Given the description of an element on the screen output the (x, y) to click on. 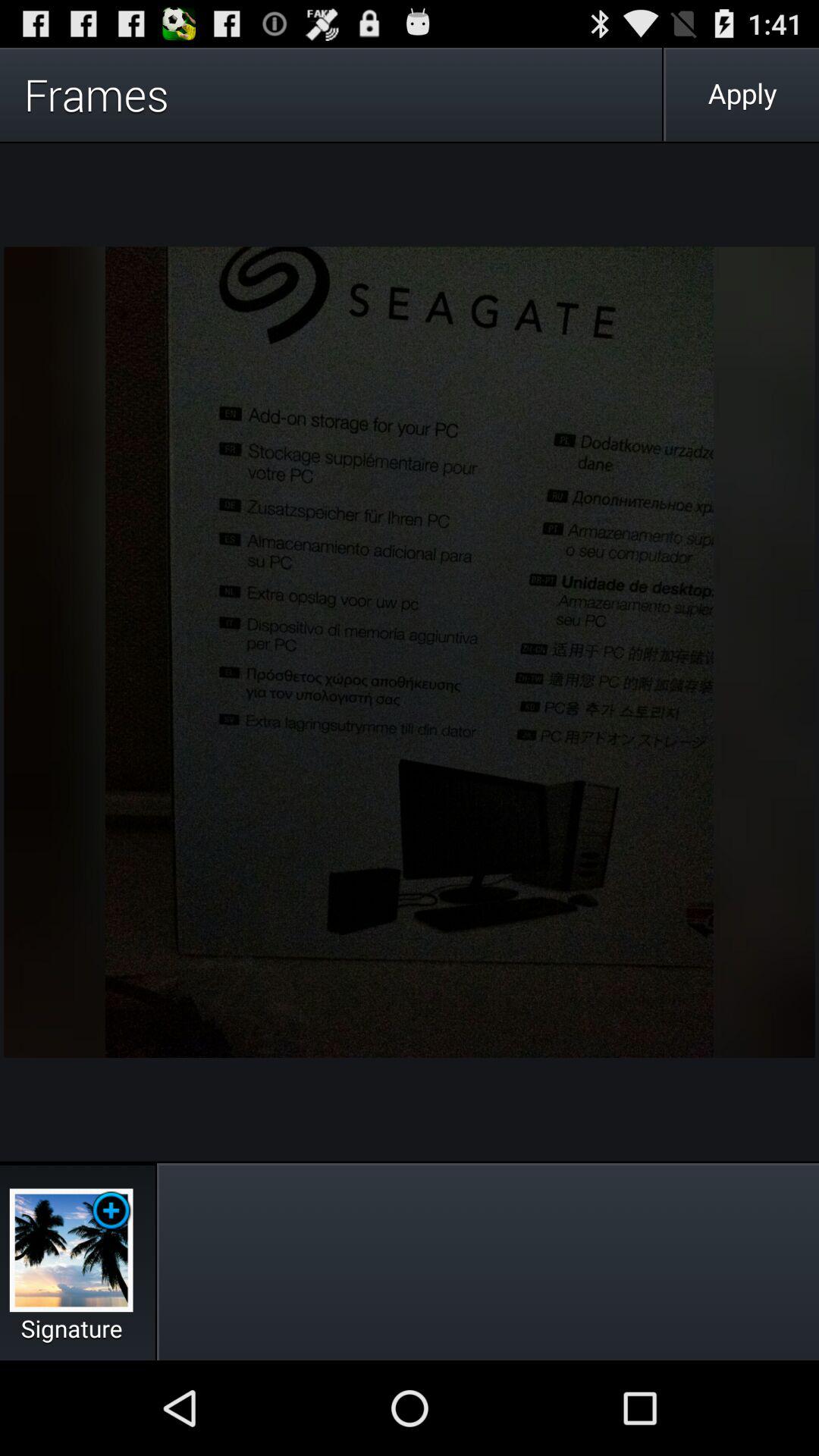
jump to apply item (742, 93)
